Given the description of an element on the screen output the (x, y) to click on. 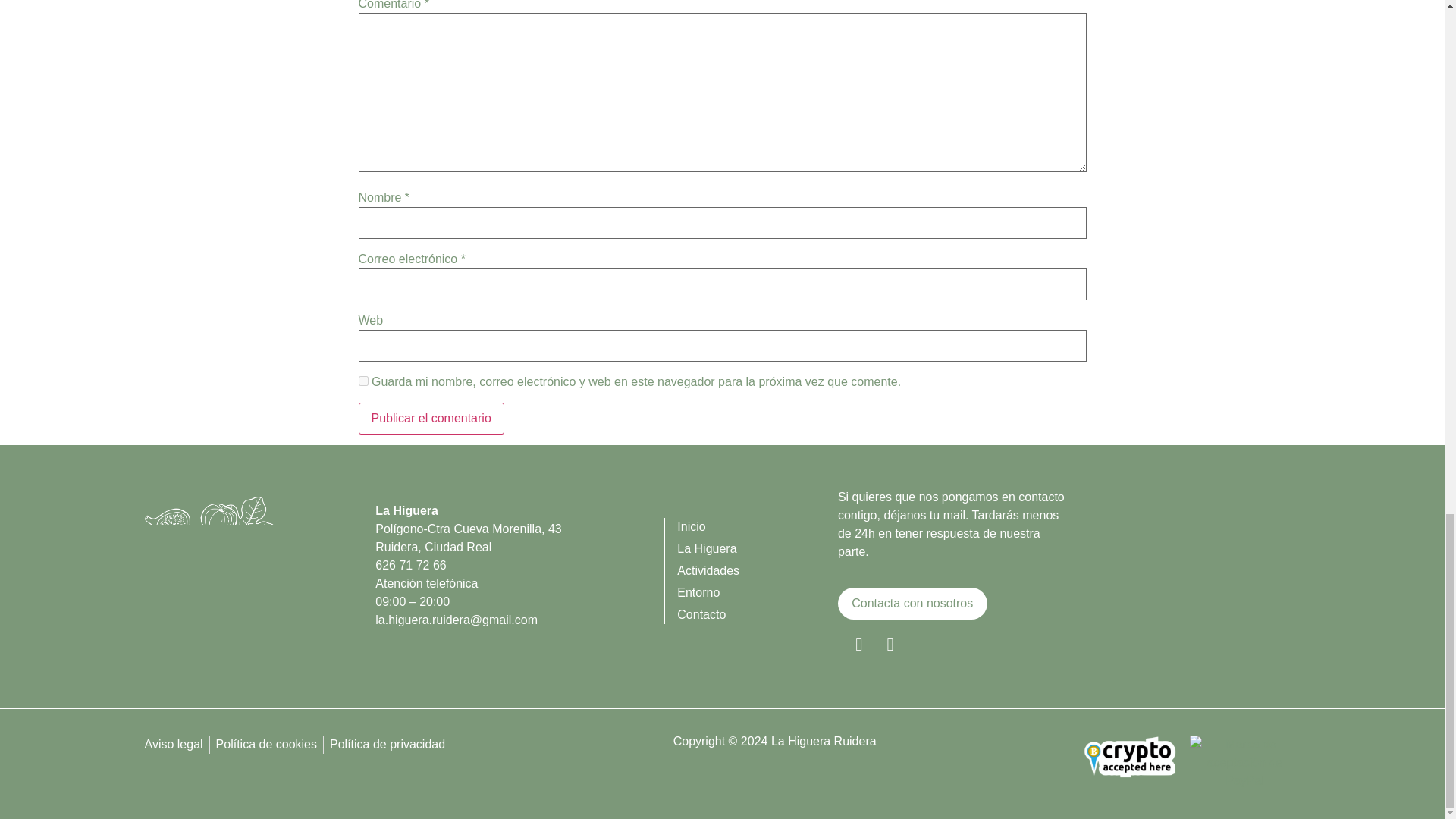
Actividades (757, 570)
Entorno (757, 592)
La Higuera (757, 548)
Contacto (757, 615)
Contacta con nosotros (912, 603)
Aviso legal (173, 744)
Inicio (757, 526)
Publicar el comentario (430, 418)
Publicar el comentario (430, 418)
yes (363, 380)
